Given the description of an element on the screen output the (x, y) to click on. 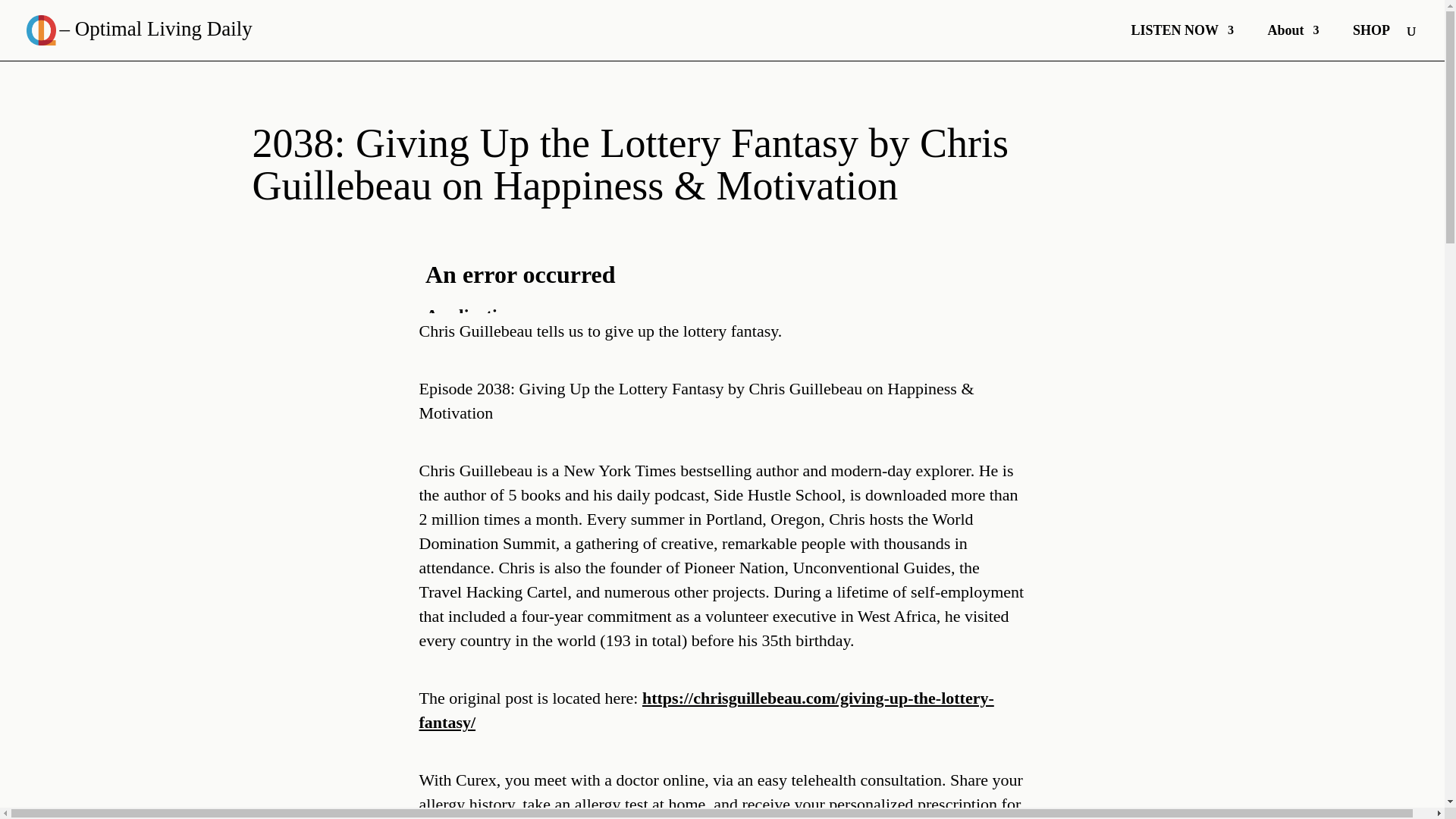
About (1292, 42)
LISTEN NOW (1182, 42)
SHOP (1371, 42)
